Given the description of an element on the screen output the (x, y) to click on. 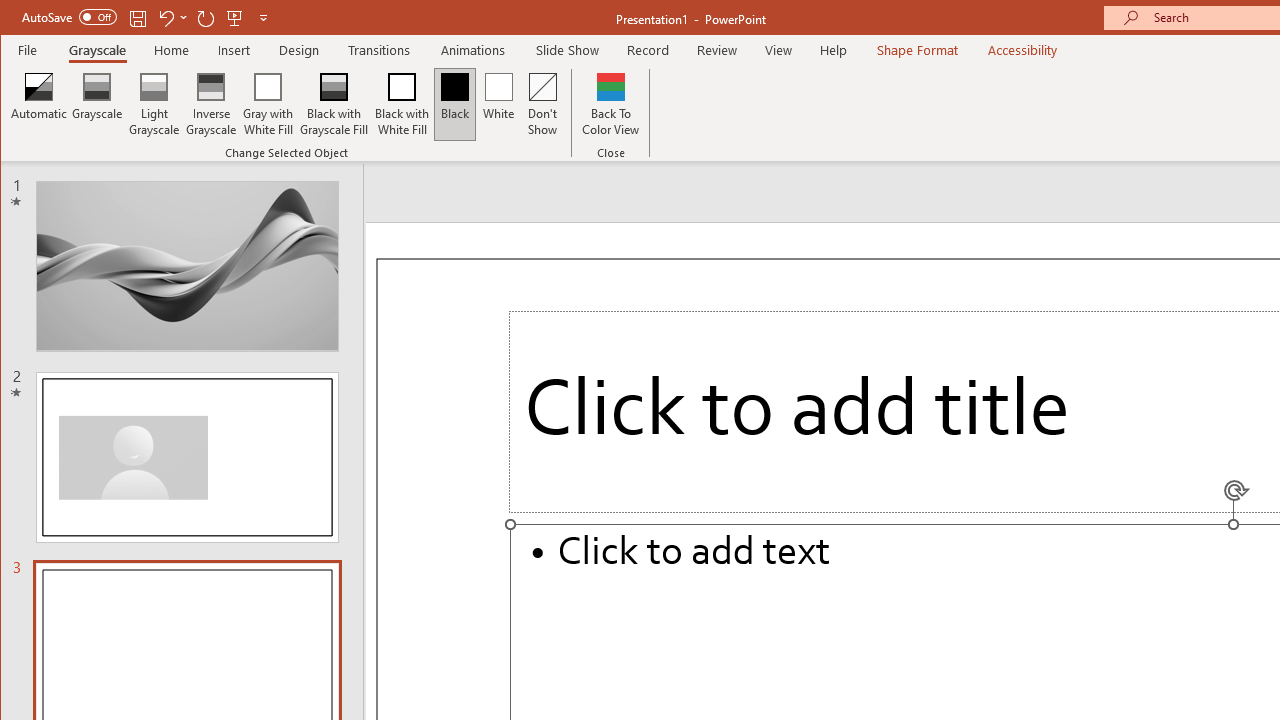
Black with White Fill (402, 104)
Light Grayscale (153, 104)
Automatic (39, 104)
